Given the description of an element on the screen output the (x, y) to click on. 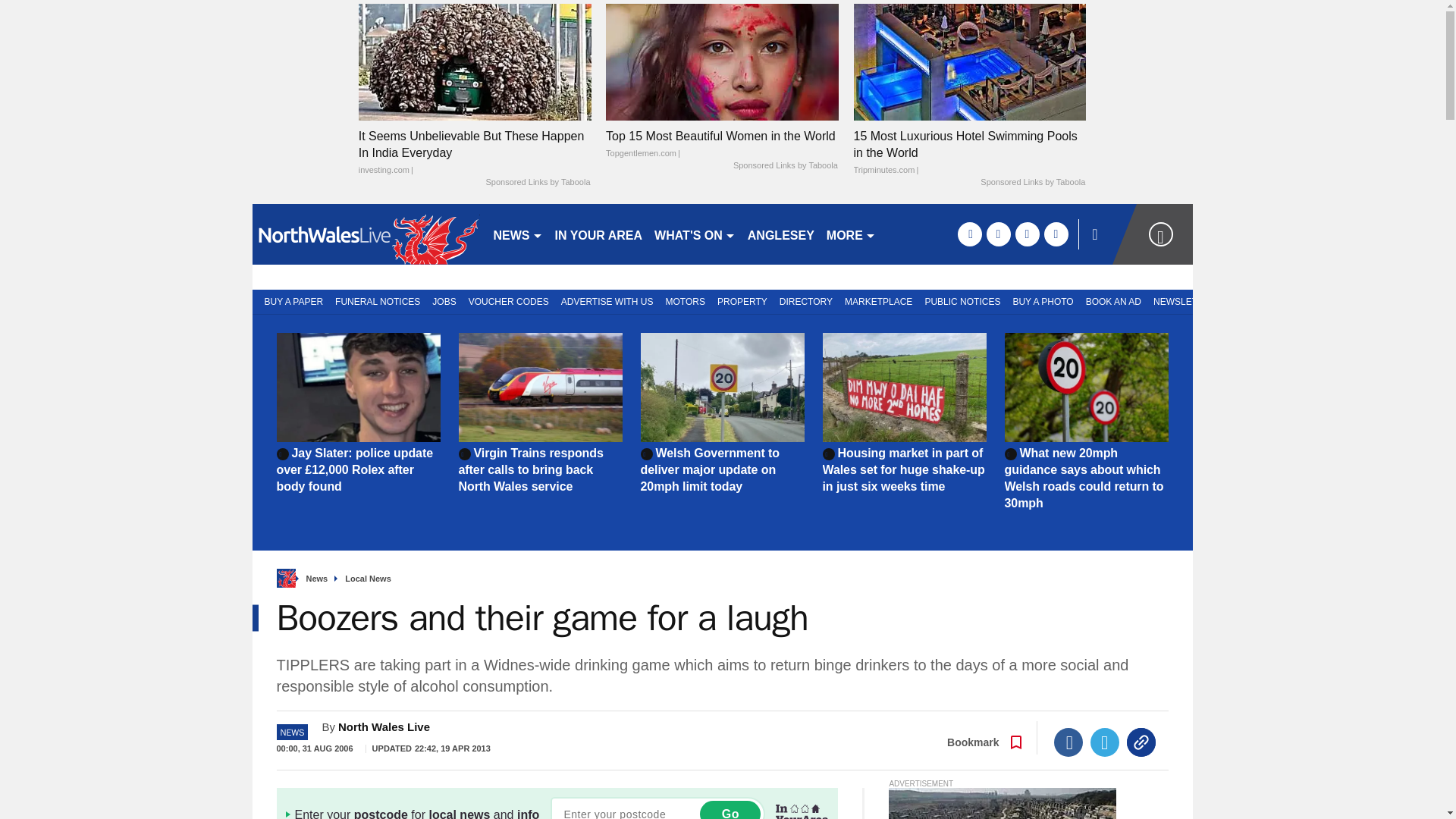
Go (730, 809)
Twitter (1104, 742)
15 Most Luxurious Hotel Swimming Pools in the World (969, 152)
NEWS (517, 233)
facebook (968, 233)
northwales (365, 233)
15 Most Luxurious Hotel Swimming Pools in the World (969, 61)
Sponsored Links by Taboola (536, 182)
Sponsored Links by Taboola (1031, 182)
Top 15 Most Beautiful Women in the World (721, 61)
ANGLESEY (781, 233)
MORE (851, 233)
instagram (1055, 233)
IN YOUR AREA (598, 233)
It Seems Unbelievable But These Happen In India Everyday (474, 152)
